Given the description of an element on the screen output the (x, y) to click on. 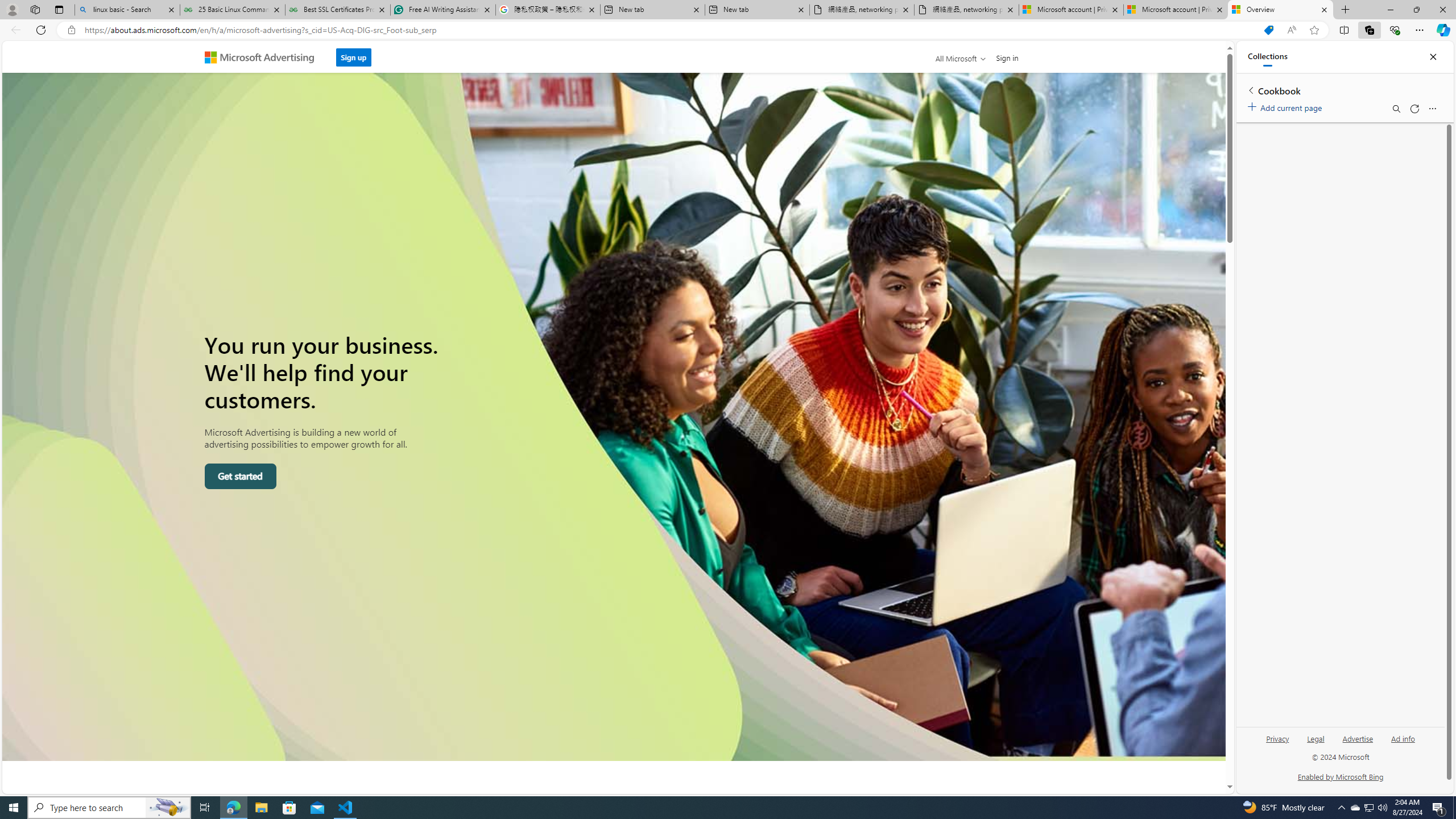
linux basic - Search (126, 9)
